Given the description of an element on the screen output the (x, y) to click on. 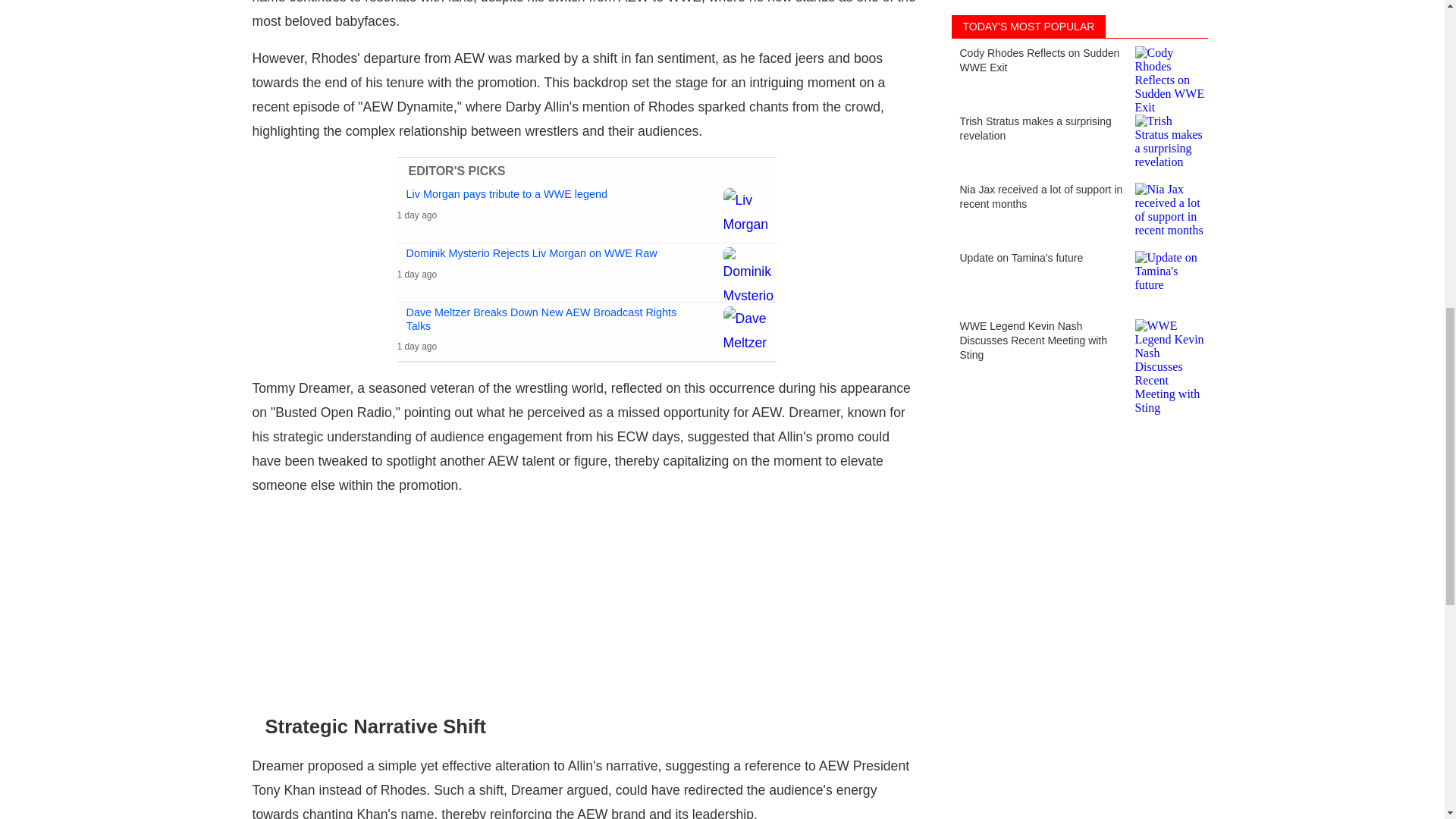
WWE Legend Kevin Nash Discusses Recent Meeting with Sting (1078, 21)
